Given the description of an element on the screen output the (x, y) to click on. 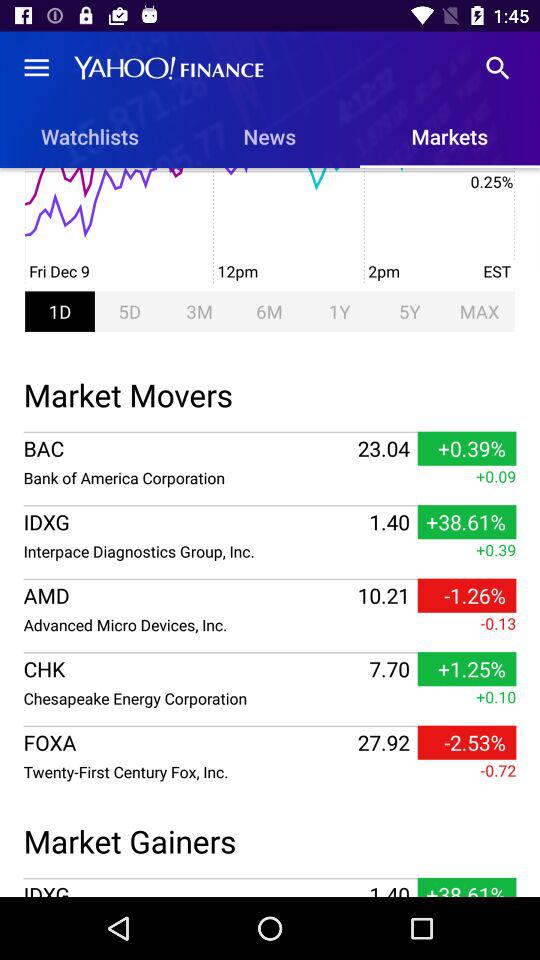
open the twenty first century (187, 771)
